Given the description of an element on the screen output the (x, y) to click on. 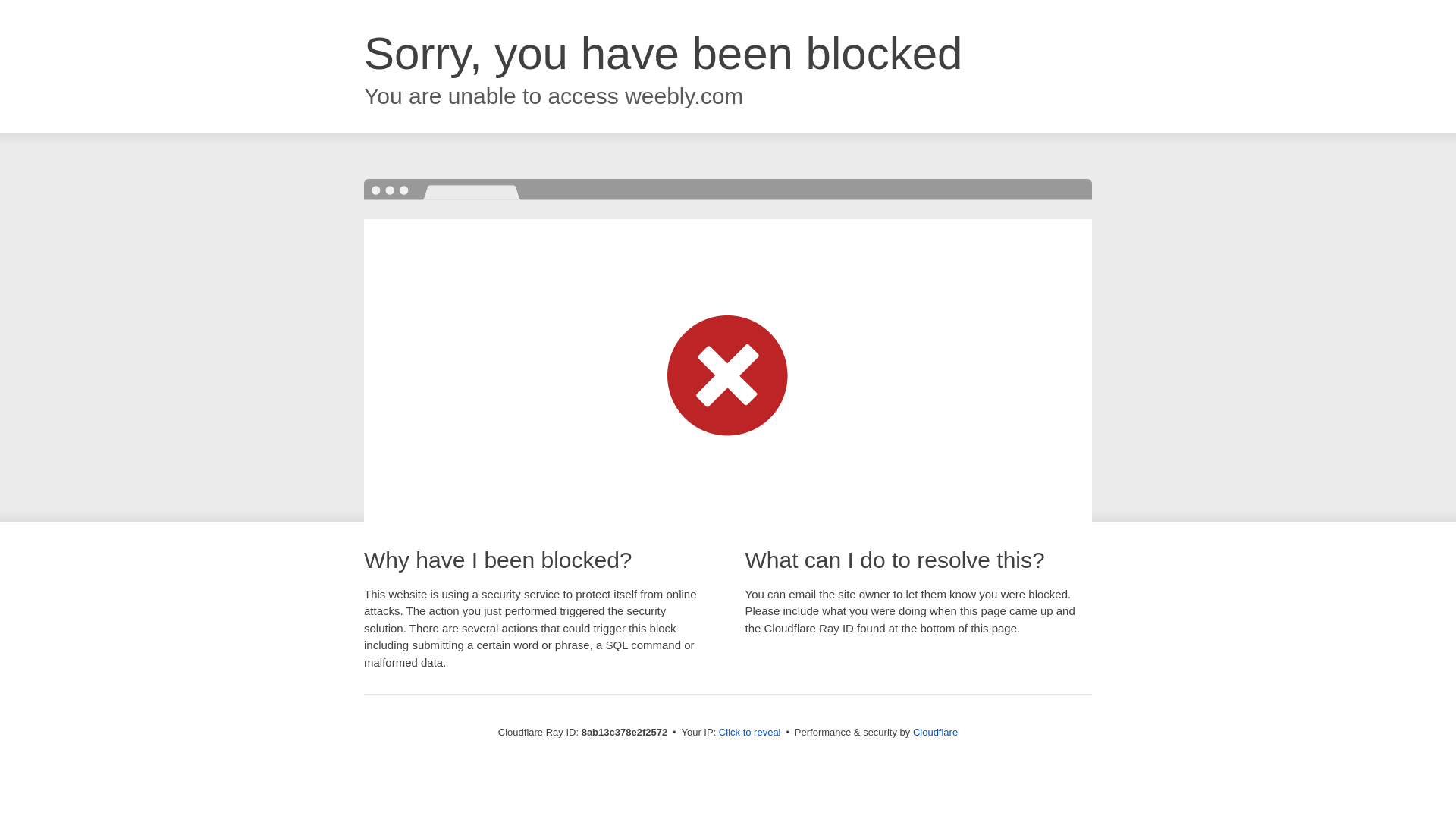
Cloudflare (935, 731)
Click to reveal (749, 732)
